Given the description of an element on the screen output the (x, y) to click on. 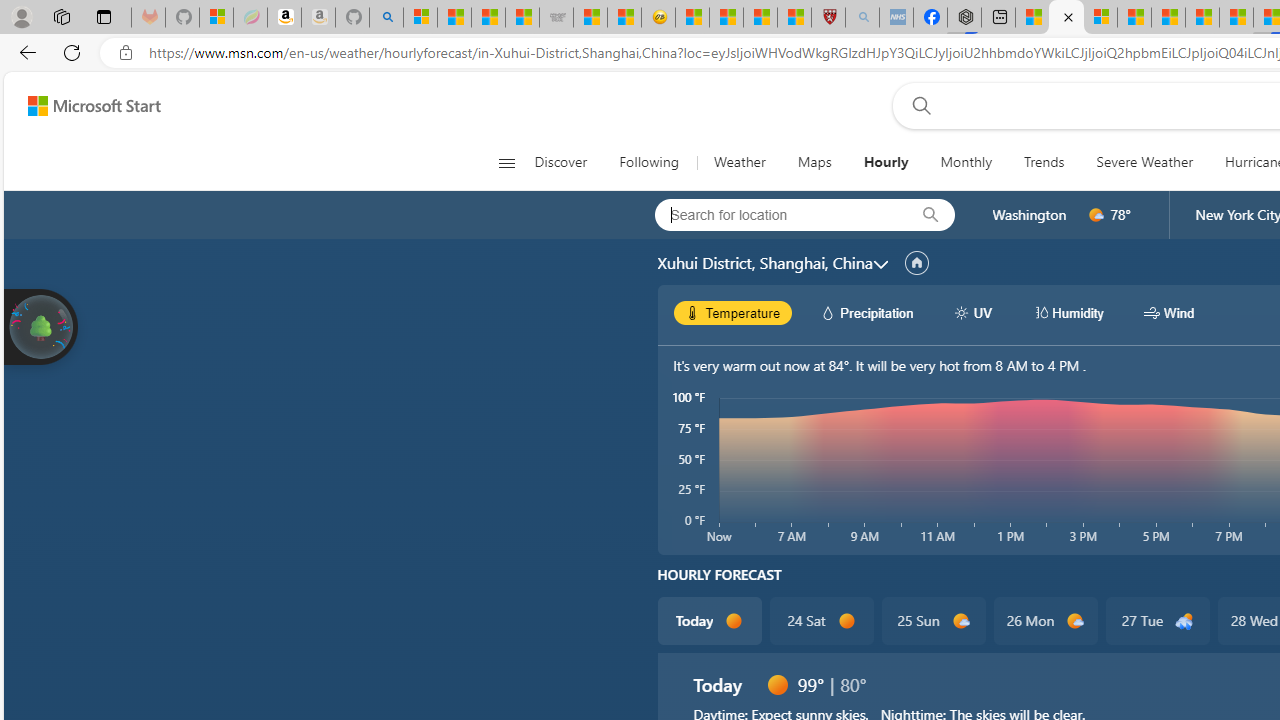
hourlyChart/precipitationWhite (828, 312)
Robert H. Shmerling, MD - Harvard Health (827, 17)
Hourly (885, 162)
d1000 (1075, 621)
hourlyChart/humidityWhite Humidity (1068, 312)
Xuhui District, Shanghai, China (764, 263)
